Given the description of an element on the screen output the (x, y) to click on. 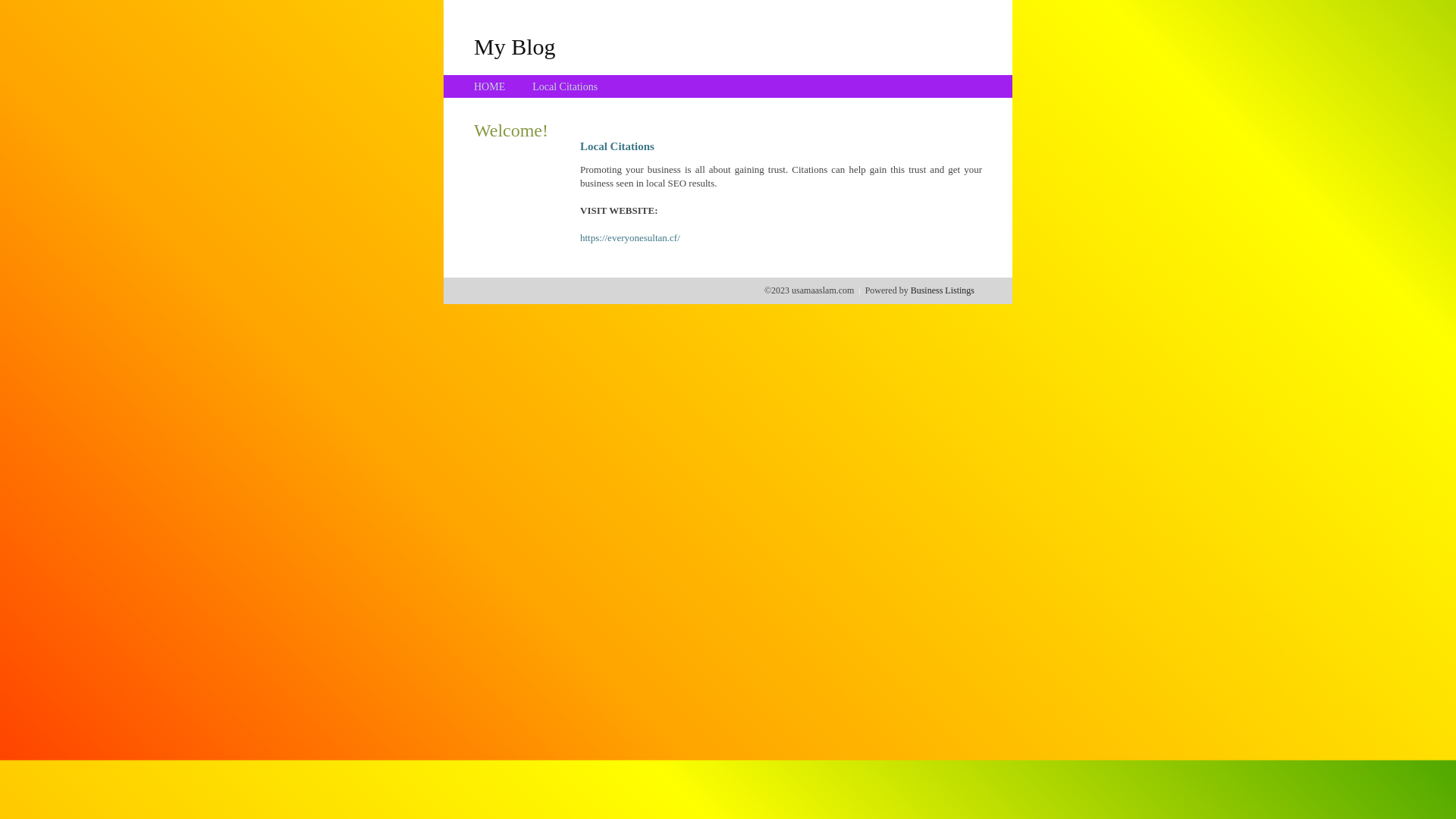
https://everyonesultan.cf/ Element type: text (630, 237)
Local Citations Element type: text (564, 86)
Business Listings Element type: text (942, 290)
My Blog Element type: text (514, 46)
HOME Element type: text (489, 86)
